Given the description of an element on the screen output the (x, y) to click on. 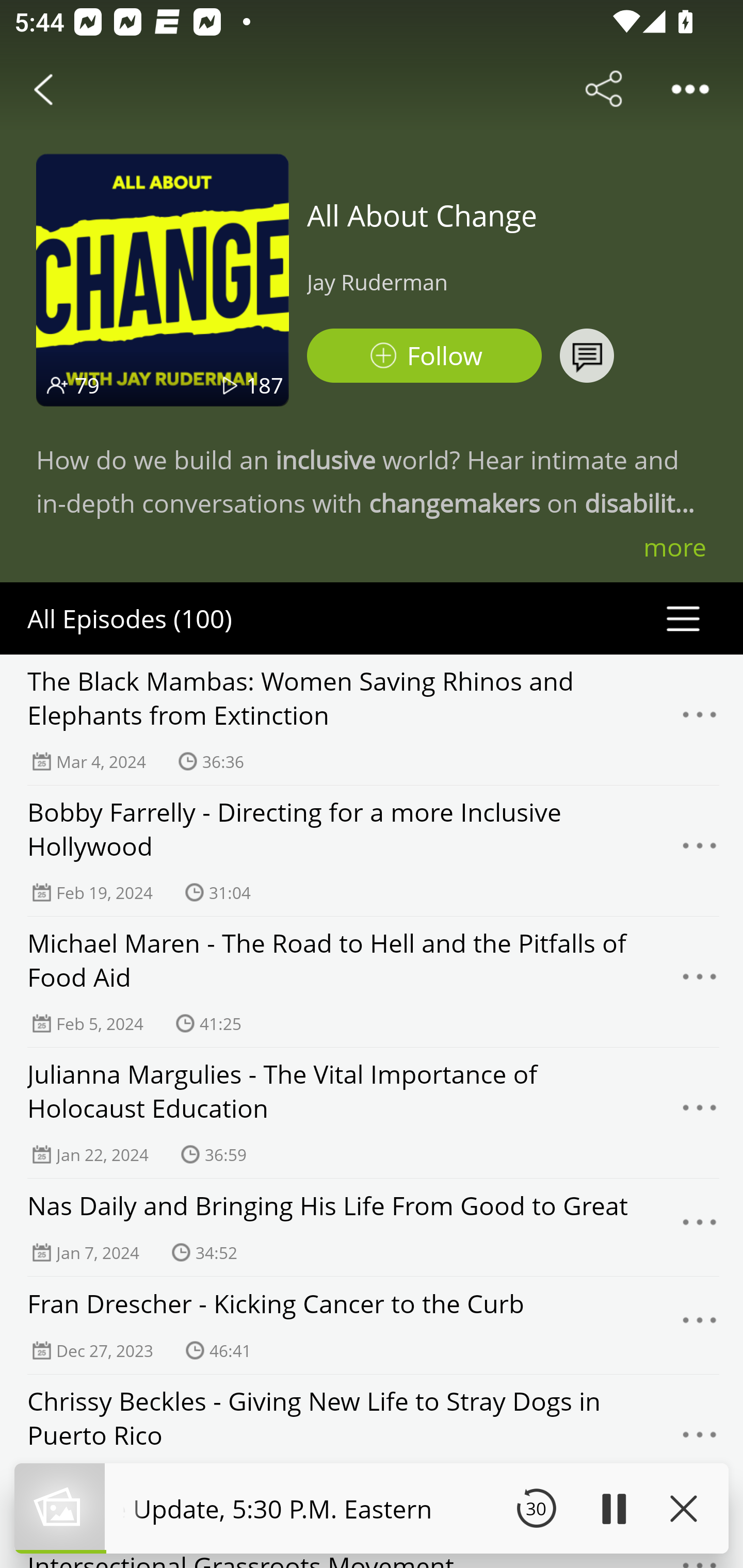
Back (43, 88)
Podbean Follow (423, 355)
79 (87, 384)
more (674, 546)
Menu (699, 720)
Menu (699, 850)
Menu (699, 982)
Menu (699, 1113)
Menu (699, 1227)
Menu (699, 1325)
Menu (699, 1440)
Play (613, 1507)
30 Seek Backward (536, 1508)
